Given the description of an element on the screen output the (x, y) to click on. 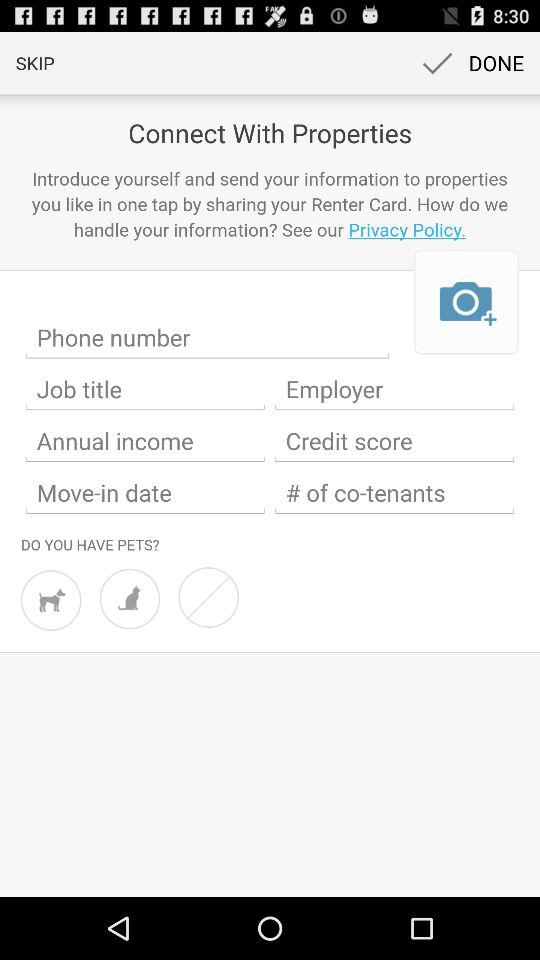
add photo (466, 301)
